Given the description of an element on the screen output the (x, y) to click on. 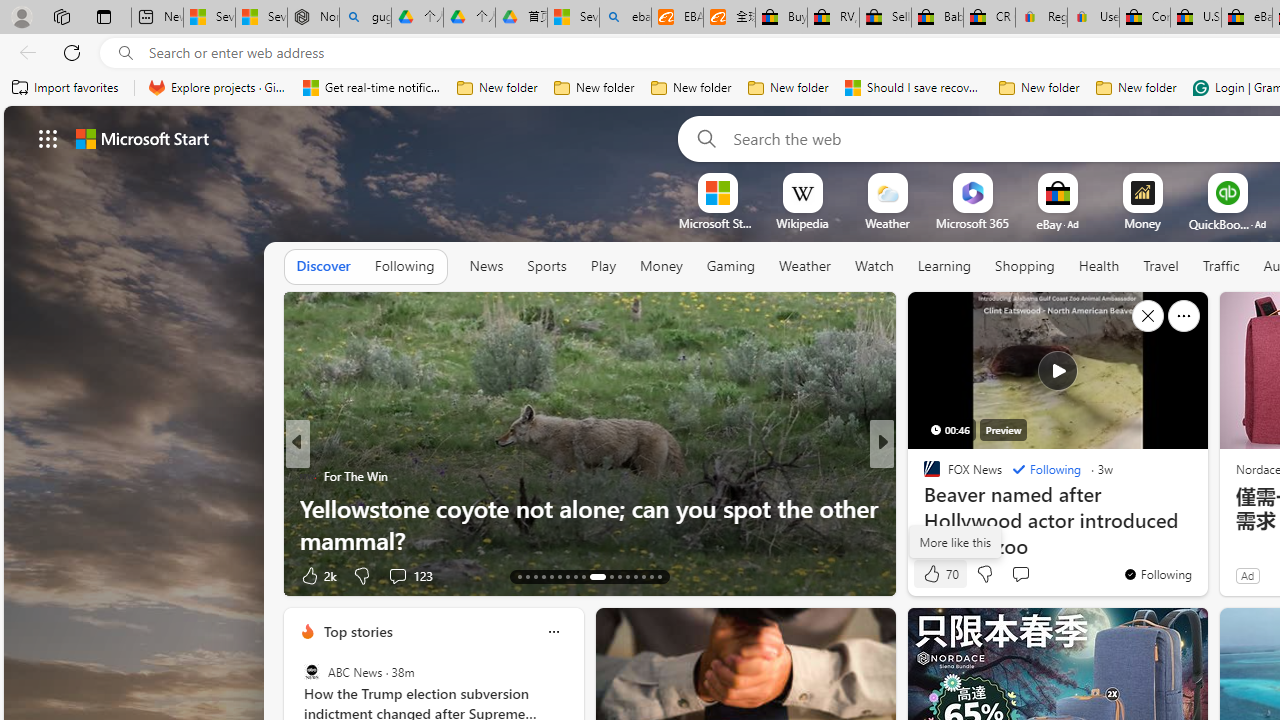
AutomationID: tab-25 (627, 576)
11 Like (934, 574)
Search icon (125, 53)
New folder (1136, 88)
U.S. State Privacy Disclosures - eBay Inc. (1196, 17)
AutomationID: tab-14 (527, 576)
AutomationID: tab-32 (635, 576)
Top stories (357, 631)
